Given the description of an element on the screen output the (x, y) to click on. 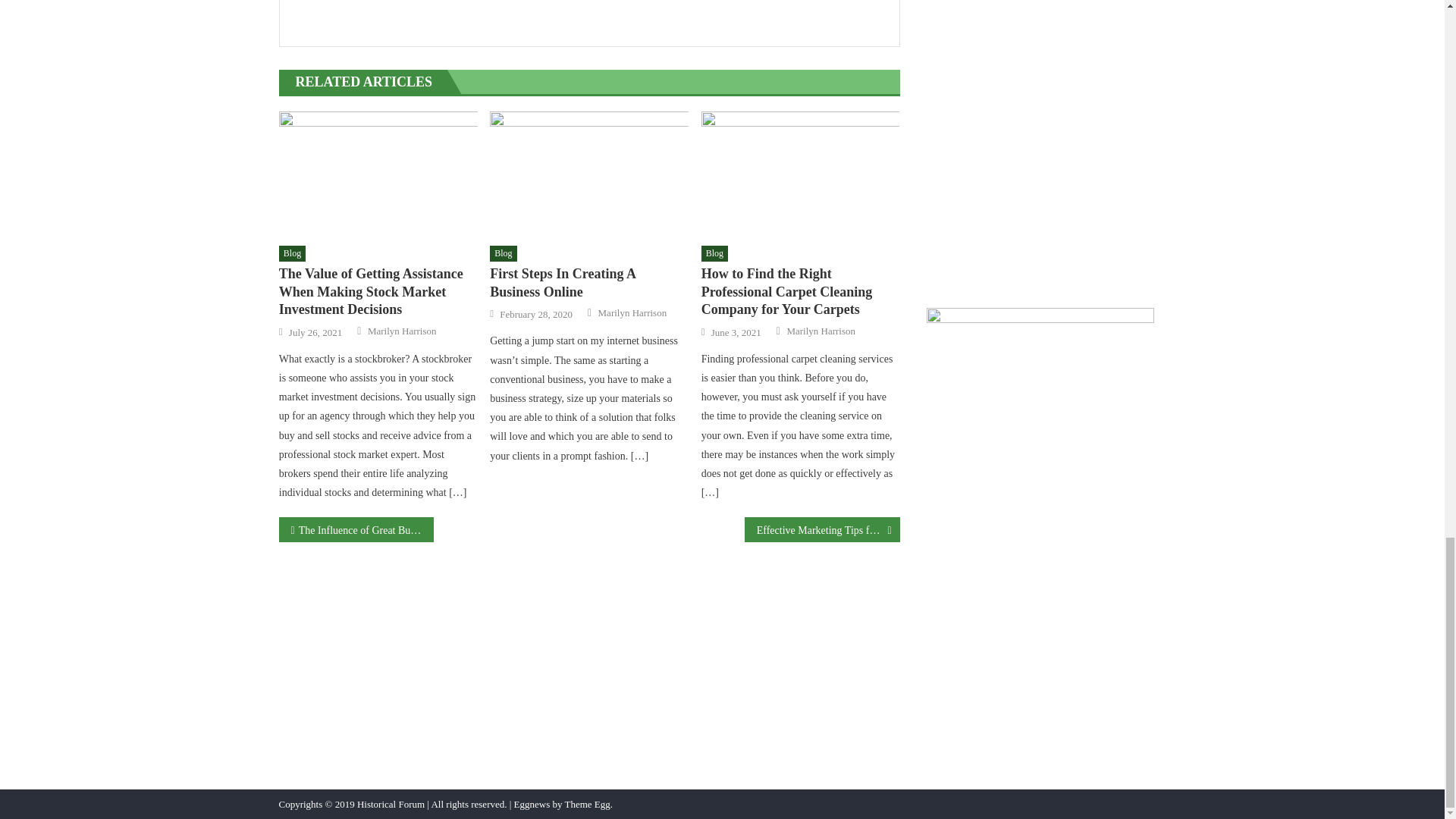
Effective Marketing Tips for Business Startups (821, 529)
February 28, 2020 (535, 314)
Blog (502, 253)
First Steps In Creating A Business Online (588, 283)
Marilyn Harrison (632, 313)
Marilyn Harrison (402, 331)
Blog (714, 253)
